Given the description of an element on the screen output the (x, y) to click on. 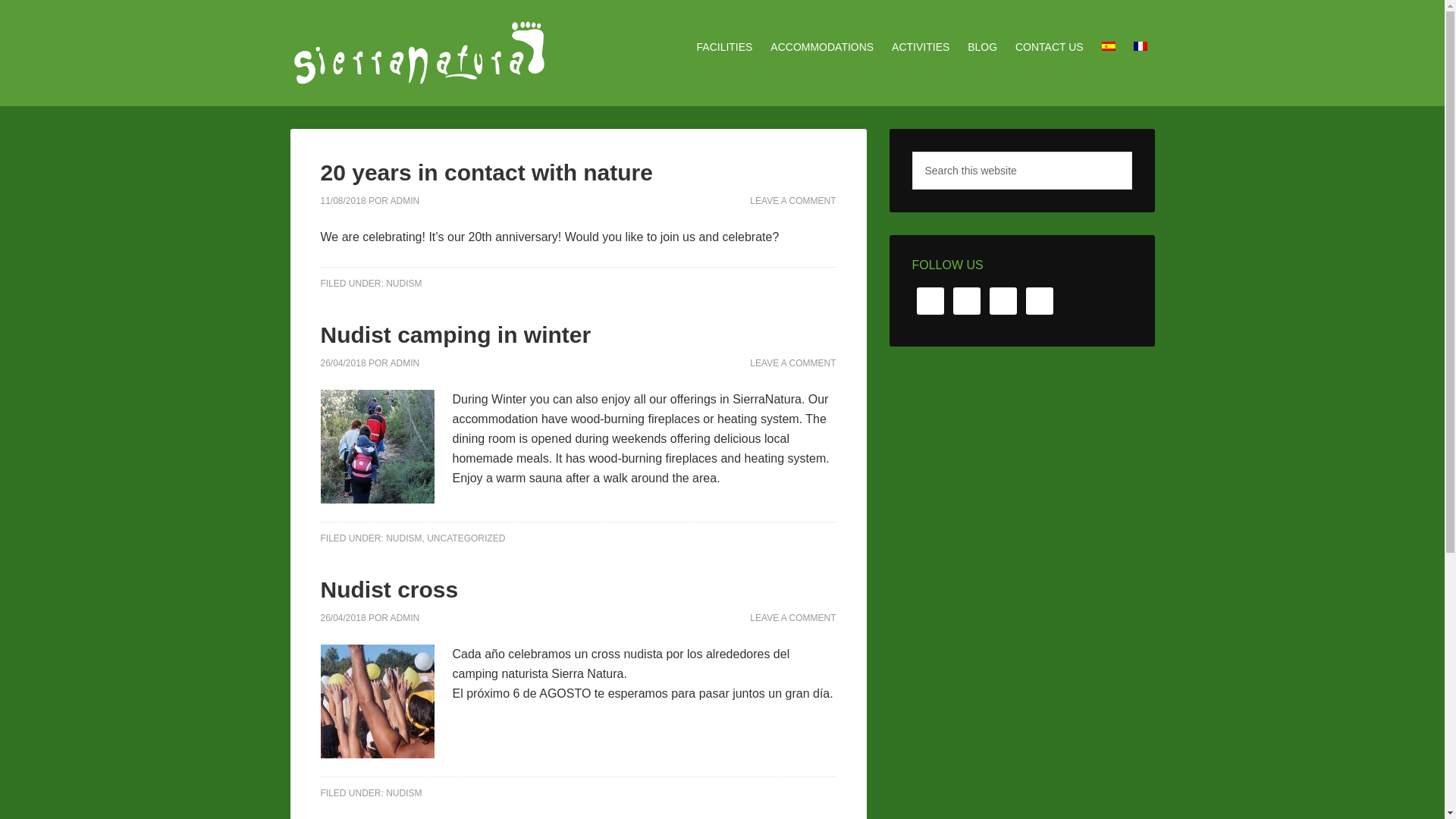
ADMIN (405, 200)
Nudist cross (389, 589)
20 years in contact with nature (486, 172)
LEAVE A COMMENT (792, 617)
Nudist camping in winter (455, 334)
ACTIVITIES (919, 46)
UNCATEGORIZED (465, 537)
SIERRA NATURA (418, 52)
BLOG (981, 46)
ADMIN (405, 362)
